Given the description of an element on the screen output the (x, y) to click on. 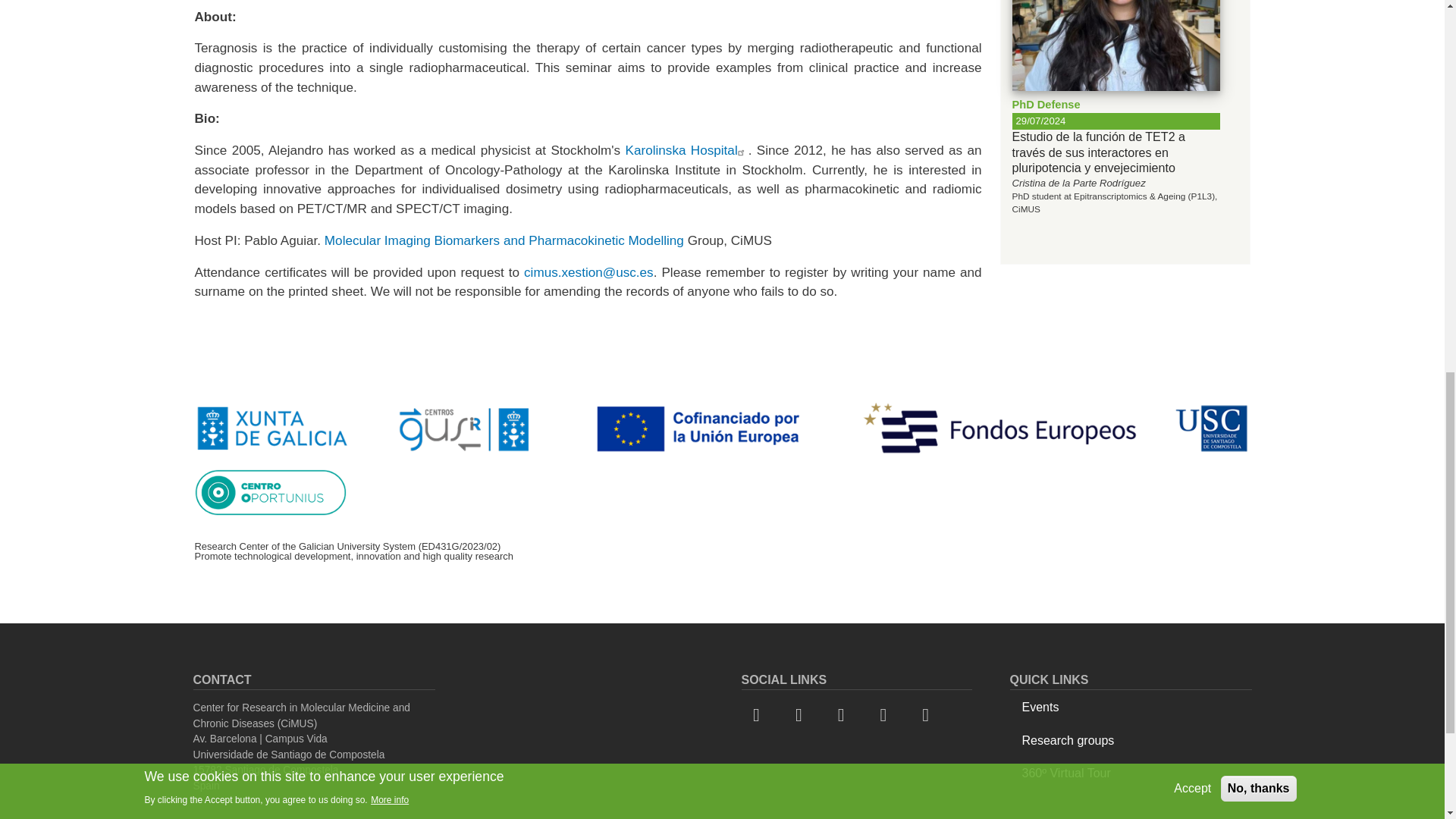
Instagram (930, 708)
YouTube (887, 708)
Twitter (802, 708)
Facebook (760, 708)
Linkedin (845, 708)
